Given the description of an element on the screen output the (x, y) to click on. 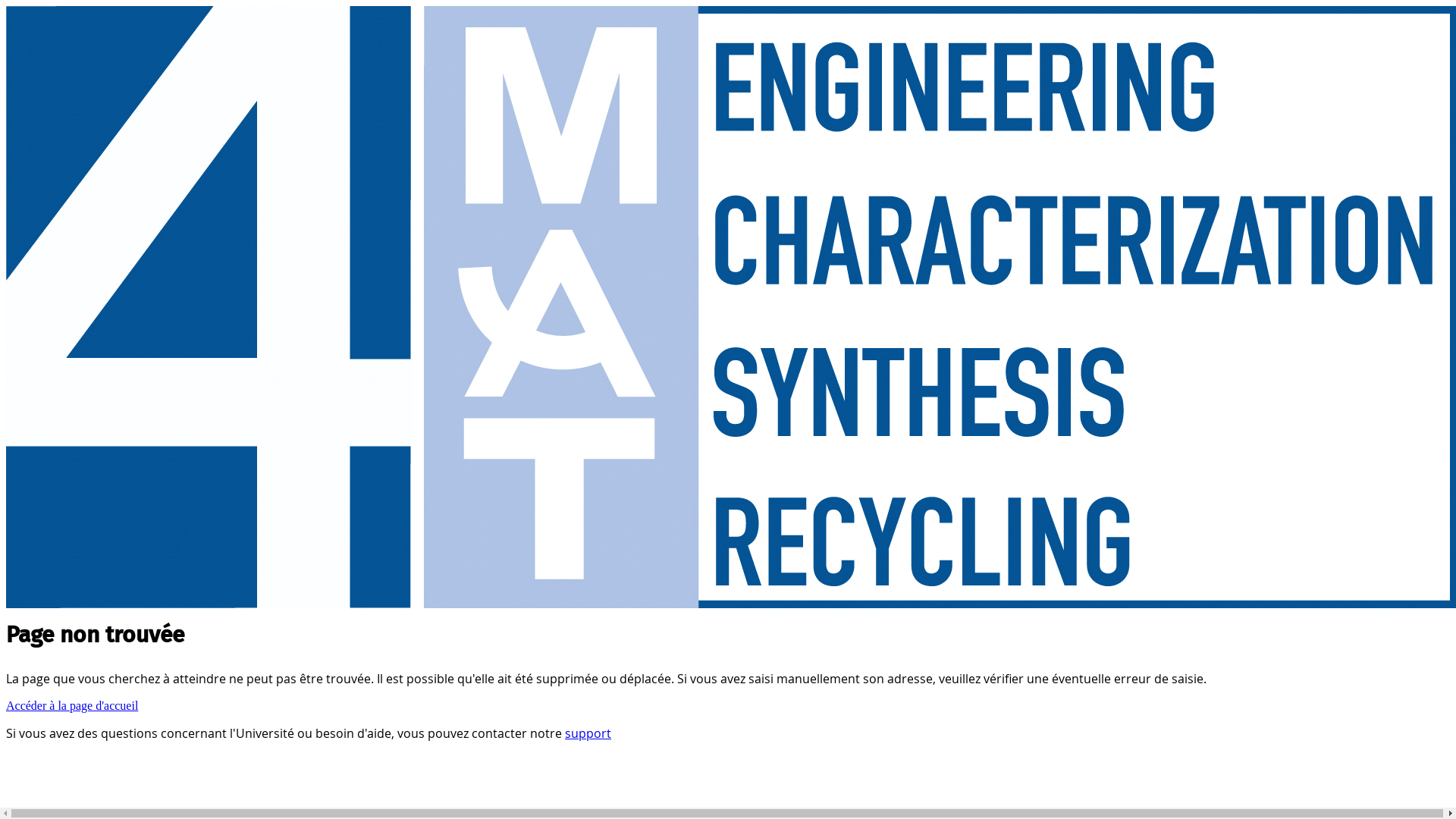
support Element type: text (587, 732)
